Given the description of an element on the screen output the (x, y) to click on. 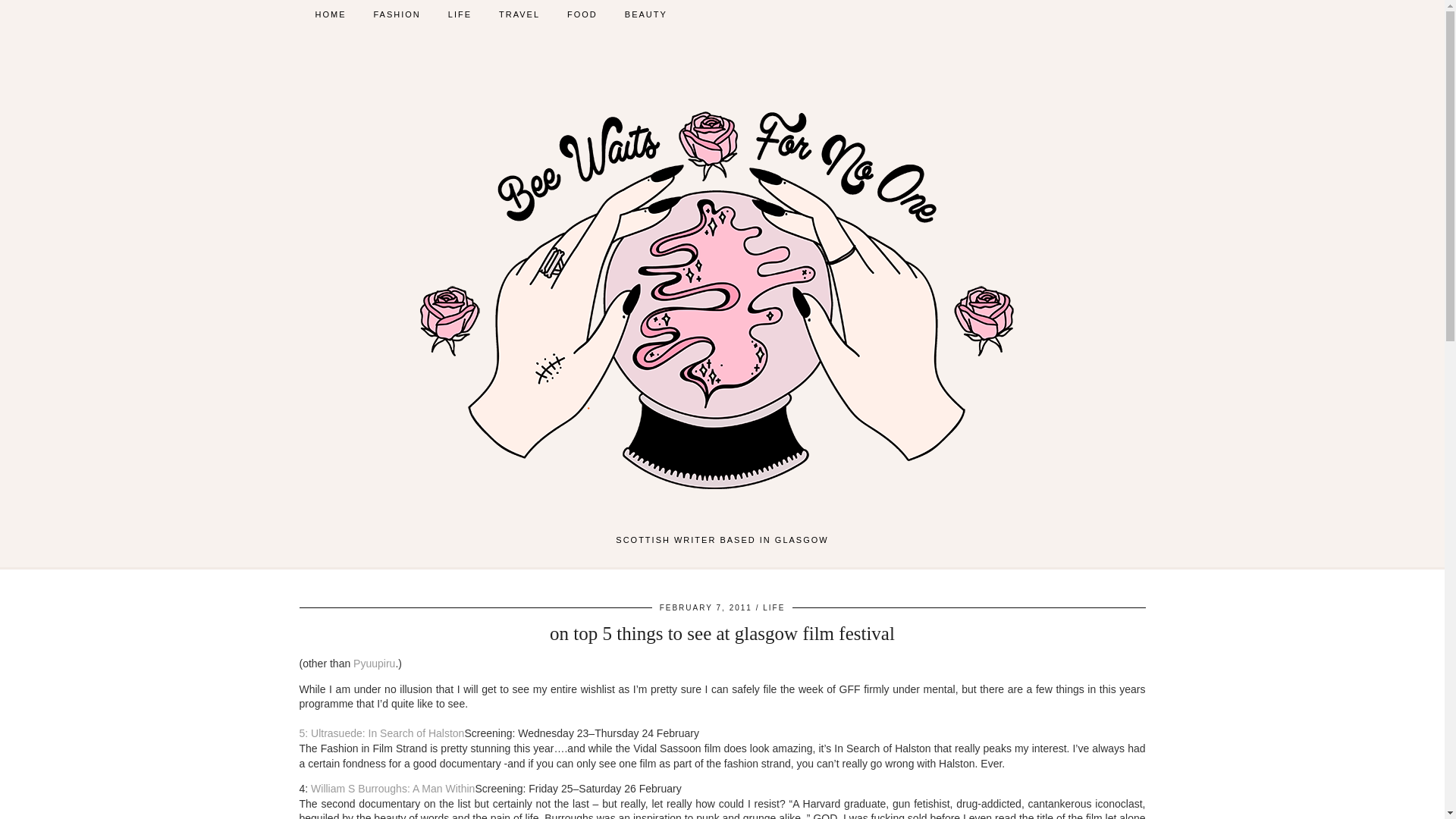
Pyuupiru (373, 663)
LIFE (458, 14)
FASHION (396, 14)
HOME (330, 14)
LIFE (773, 607)
5: Ultrasuede: In Search of Halston (381, 740)
William S Burroughs: A Man Within (392, 788)
FOOD (582, 14)
BEAUTY (646, 14)
